Given the description of an element on the screen output the (x, y) to click on. 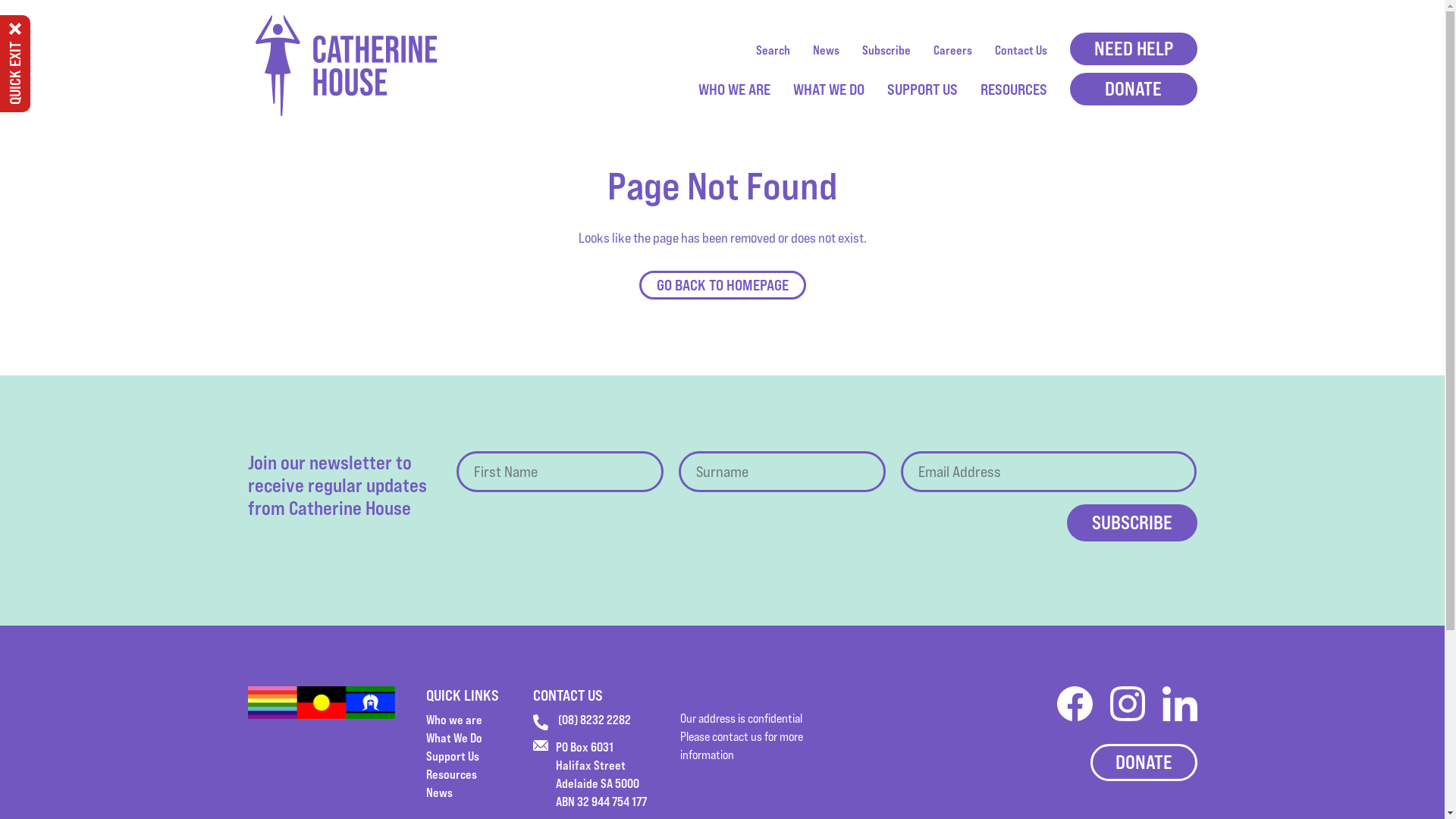
Who we are Element type: text (454, 719)
SUPPORT US Element type: text (922, 88)
Search Element type: text (772, 49)
Subscribe Element type: text (1131, 522)
WHO WE ARE Element type: text (733, 88)
WHAT WE DO Element type: text (828, 88)
QUICK EXIT Element type: text (15, 63)
NEED HELP Element type: text (1132, 48)
Contact Us Element type: text (1020, 49)
Resources Element type: text (451, 773)
Support Us Element type: text (452, 755)
DONATE Element type: text (1132, 88)
News Element type: text (439, 792)
DONATE Element type: text (1143, 762)
Subscribe Element type: text (885, 49)
GO BACK TO HOMEPAGE Element type: text (721, 284)
News Element type: text (825, 49)
What We Do Element type: text (454, 737)
(08) 8232 2282 Element type: text (581, 720)
RESOURCES Element type: text (1012, 88)
Careers Element type: text (951, 49)
